Given the description of an element on the screen output the (x, y) to click on. 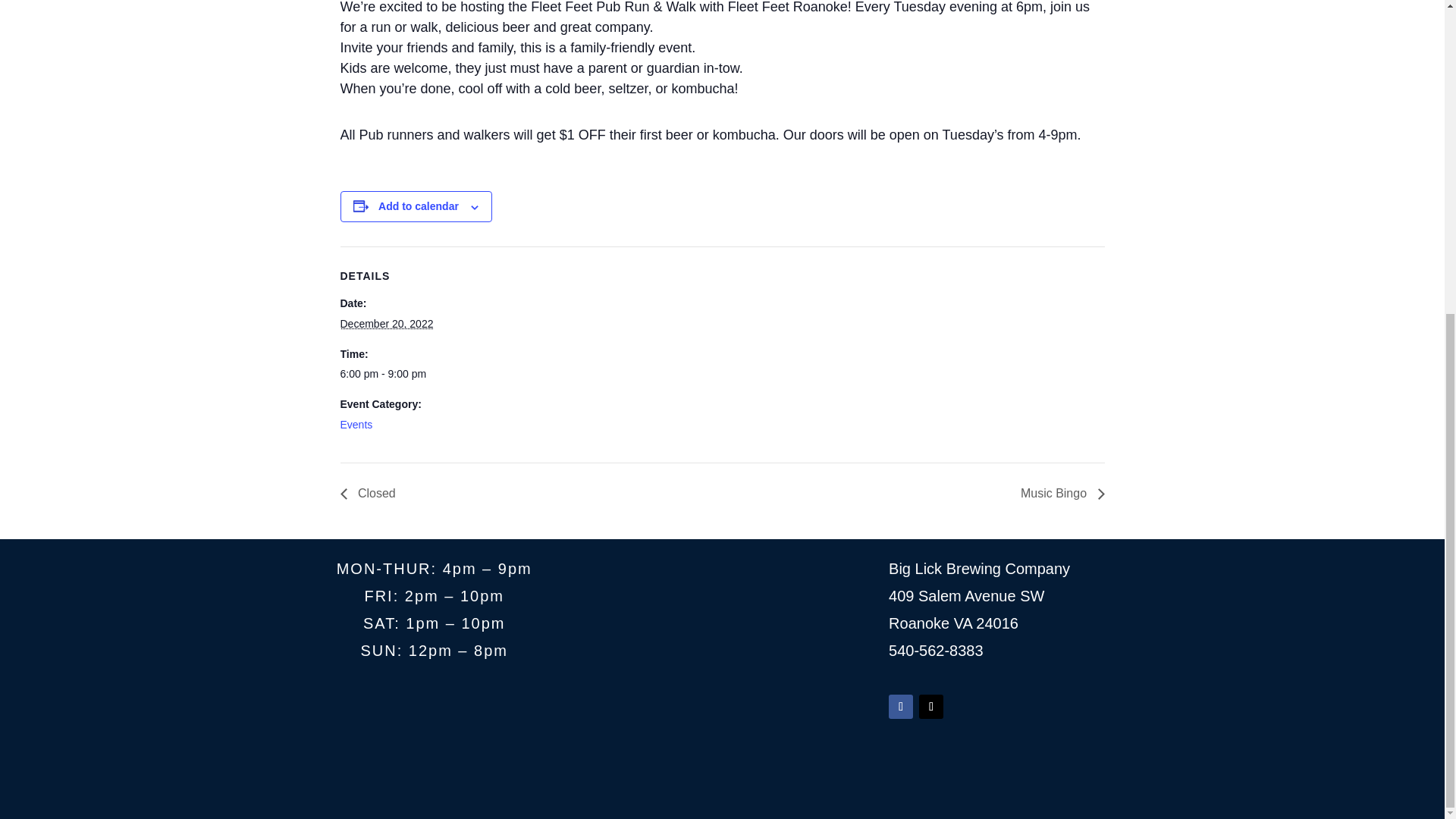
2022-12-20 (403, 374)
540-562-8383 (936, 650)
Follow on X (930, 706)
Closed (371, 492)
Follow on Facebook (900, 706)
Events (355, 424)
Add to calendar (418, 205)
2022-12-20 (385, 323)
Music Bingo (1058, 492)
